Given the description of an element on the screen output the (x, y) to click on. 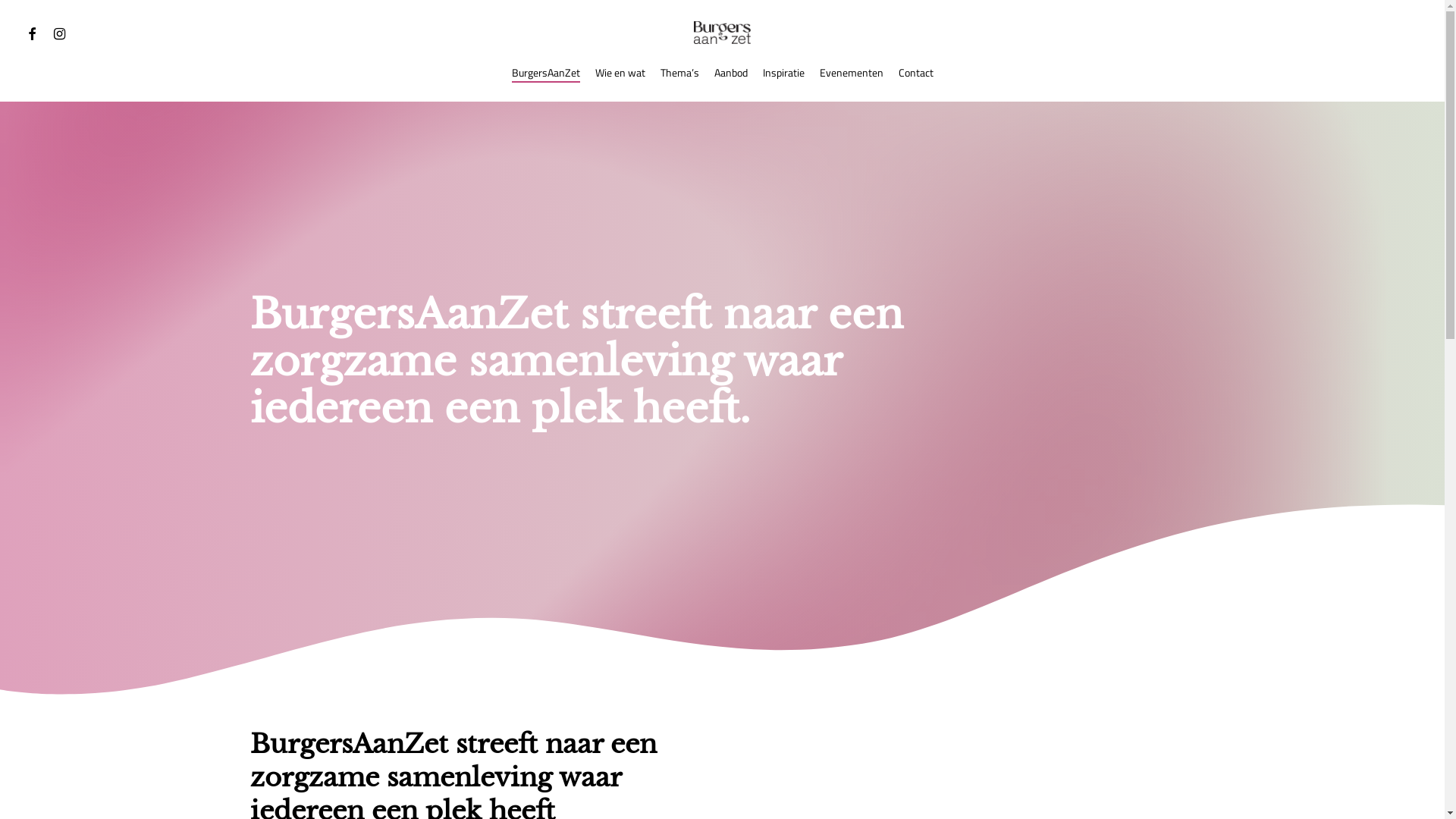
Wie en wat Element type: text (619, 72)
Evenementen Element type: text (850, 72)
Aanbod Element type: text (730, 72)
Inspiratie Element type: text (783, 72)
facebook Element type: text (31, 32)
BurgersAanZet Element type: text (545, 72)
Contact Element type: text (914, 72)
instagram Element type: text (58, 32)
